Given the description of an element on the screen output the (x, y) to click on. 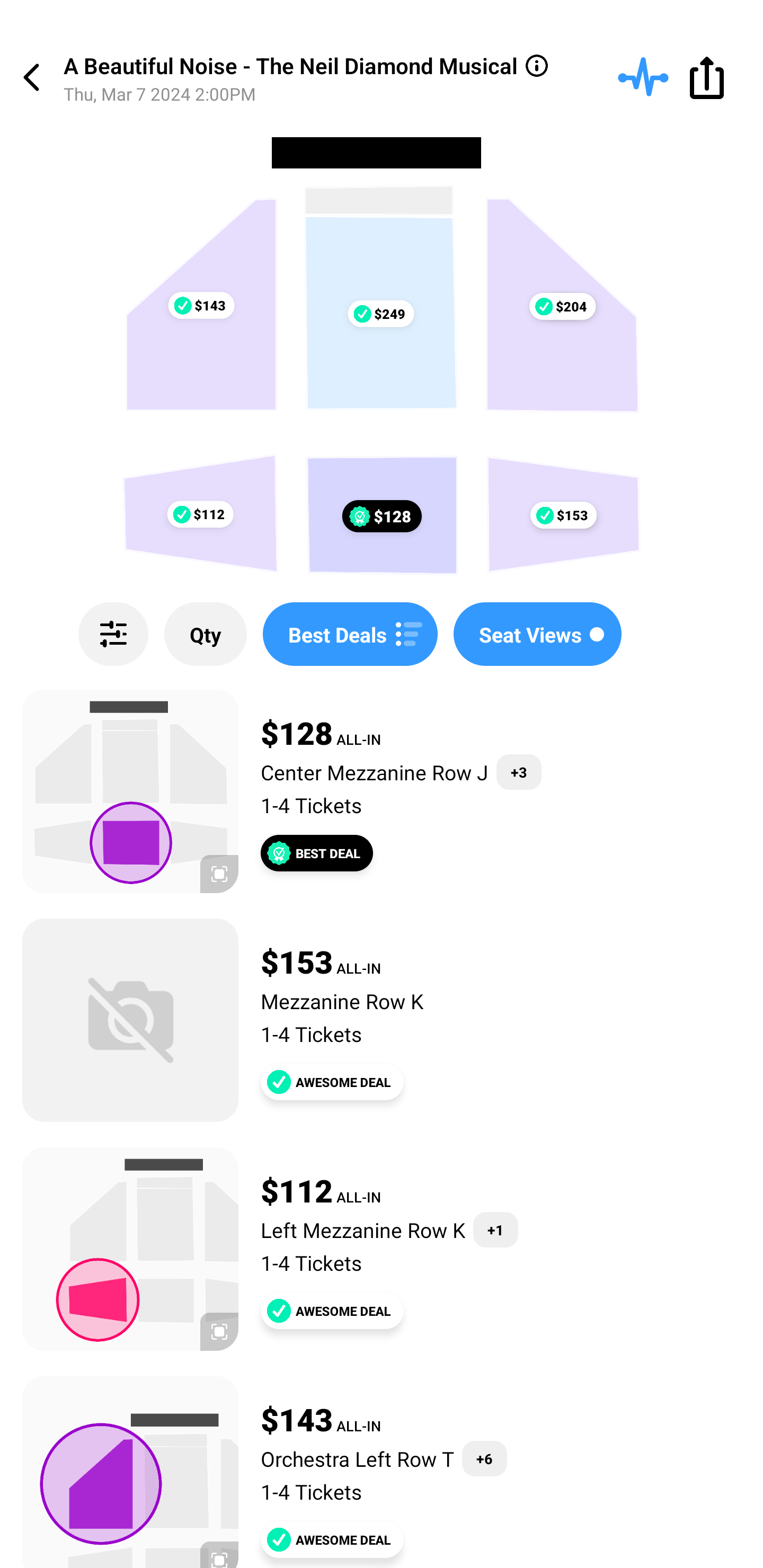
$249 (380, 313)
Qty (205, 634)
Best Deals (349, 634)
Seat Views (537, 634)
+3 (518, 772)
BEST DEAL (316, 852)
AWESOME DEAL (331, 1081)
+1 (495, 1230)
AWESOME DEAL (331, 1310)
+6 (484, 1458)
AWESOME DEAL (331, 1539)
